Given the description of an element on the screen output the (x, y) to click on. 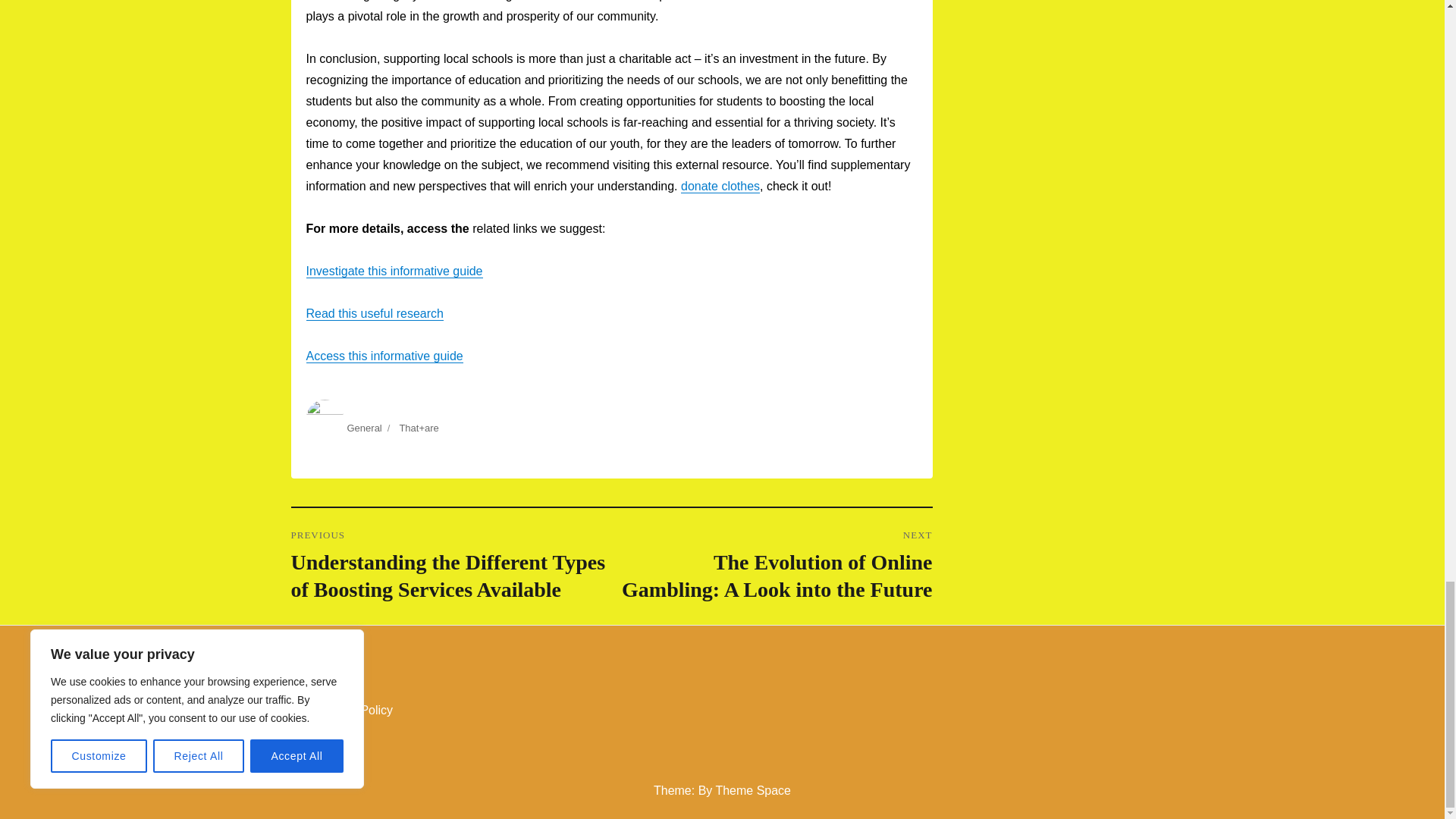
donate clothes (720, 185)
Read this useful research (374, 313)
General (364, 428)
Investigate this informative guide (394, 270)
Access this informative guide (384, 355)
